Given the description of an element on the screen output the (x, y) to click on. 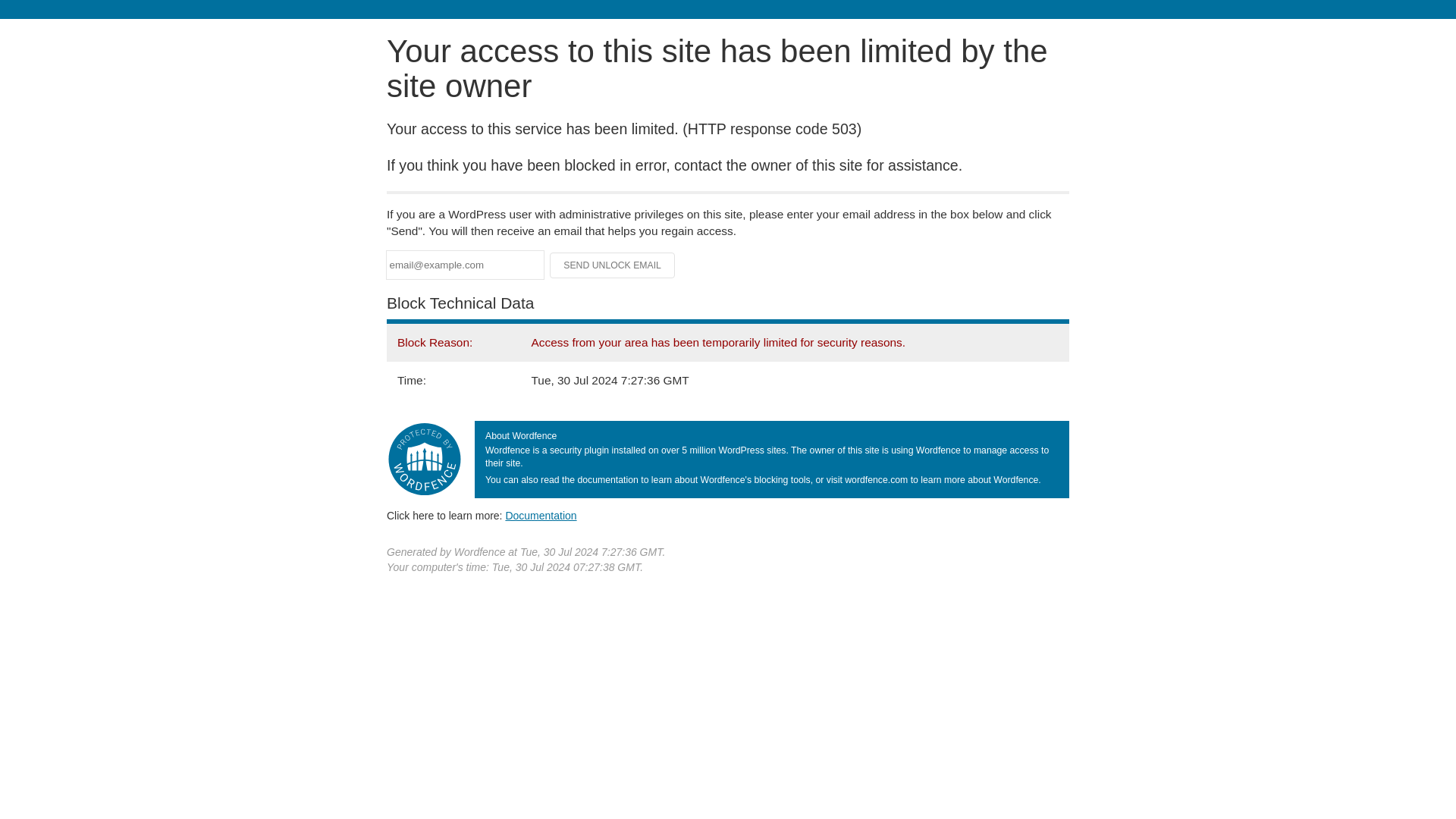
Send Unlock Email (612, 265)
Documentation (540, 515)
Send Unlock Email (612, 265)
